Given the description of an element on the screen output the (x, y) to click on. 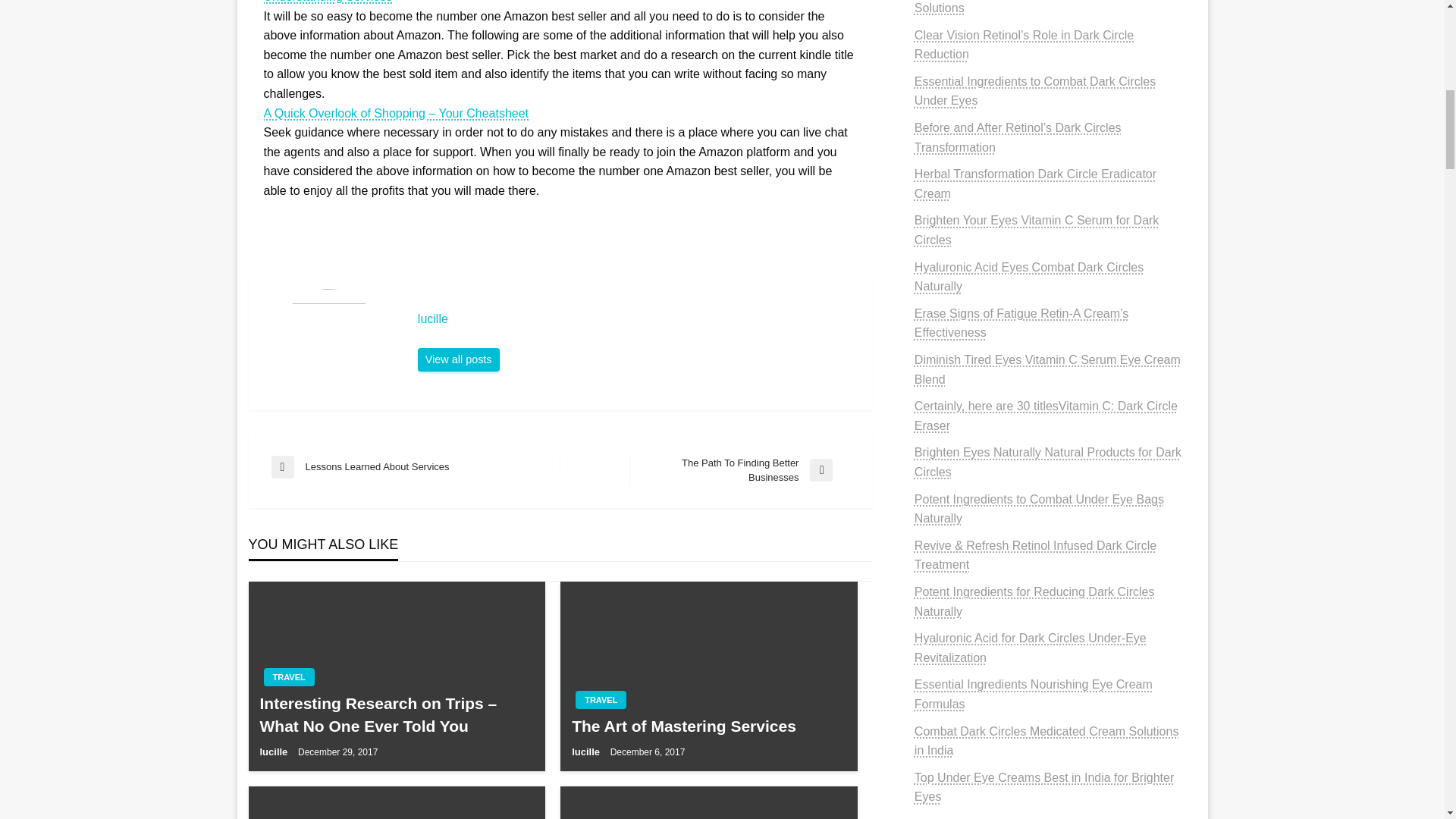
lucille (458, 360)
lucille (637, 319)
Understanding Services (328, 1)
lucille (637, 319)
